Given the description of an element on the screen output the (x, y) to click on. 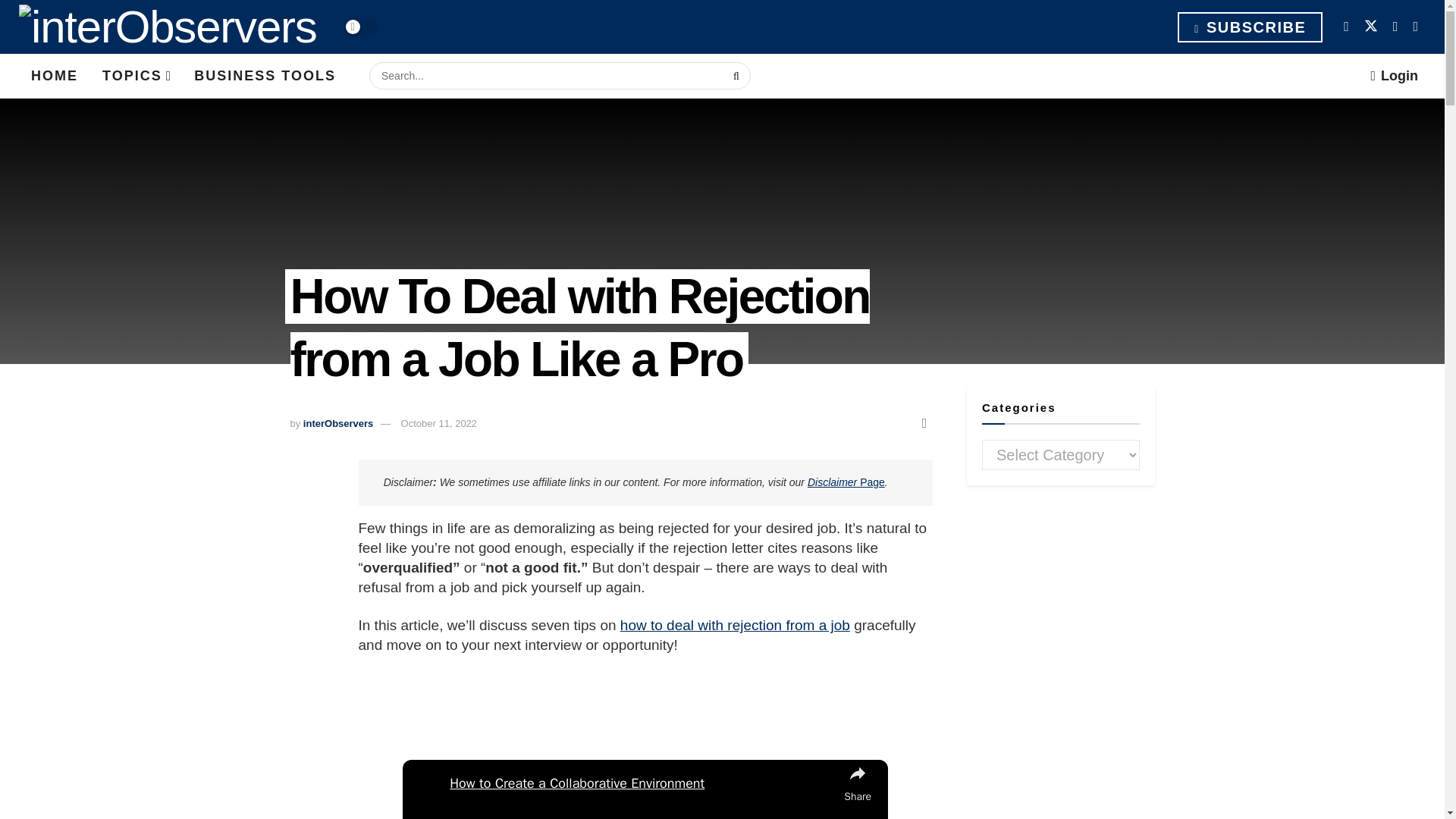
Login (1394, 75)
SUBSCRIBE (1249, 27)
TOPICS (136, 75)
HOME (54, 75)
BUSINESS TOOLS (264, 75)
